Given the description of an element on the screen output the (x, y) to click on. 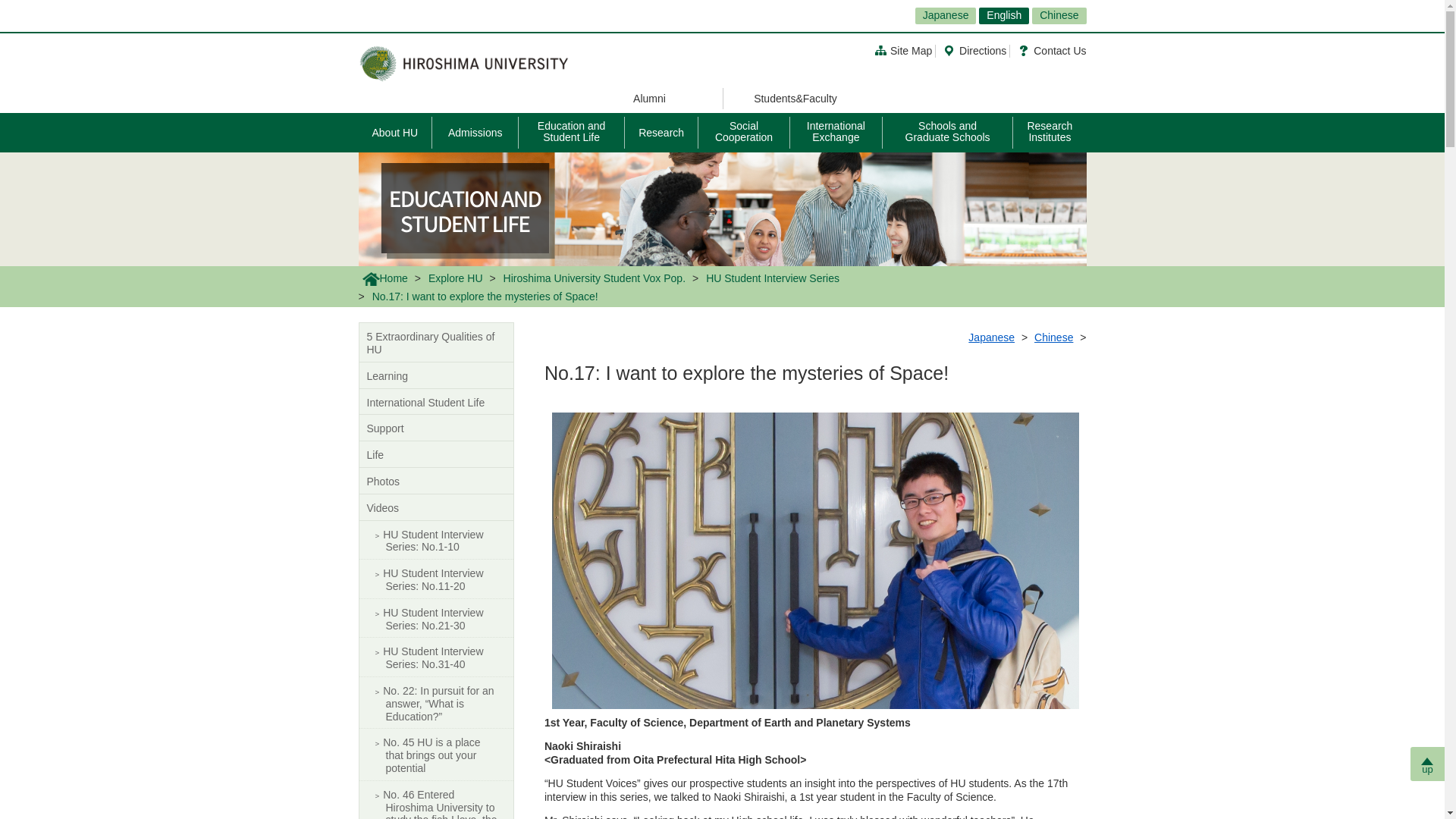
Site Map (903, 50)
Admissions (474, 132)
Directions (974, 50)
Chinese (1059, 15)
English (1003, 15)
Japanese (945, 15)
About HU (395, 132)
Alumni (649, 97)
Contact Us (1051, 50)
